Given the description of an element on the screen output the (x, y) to click on. 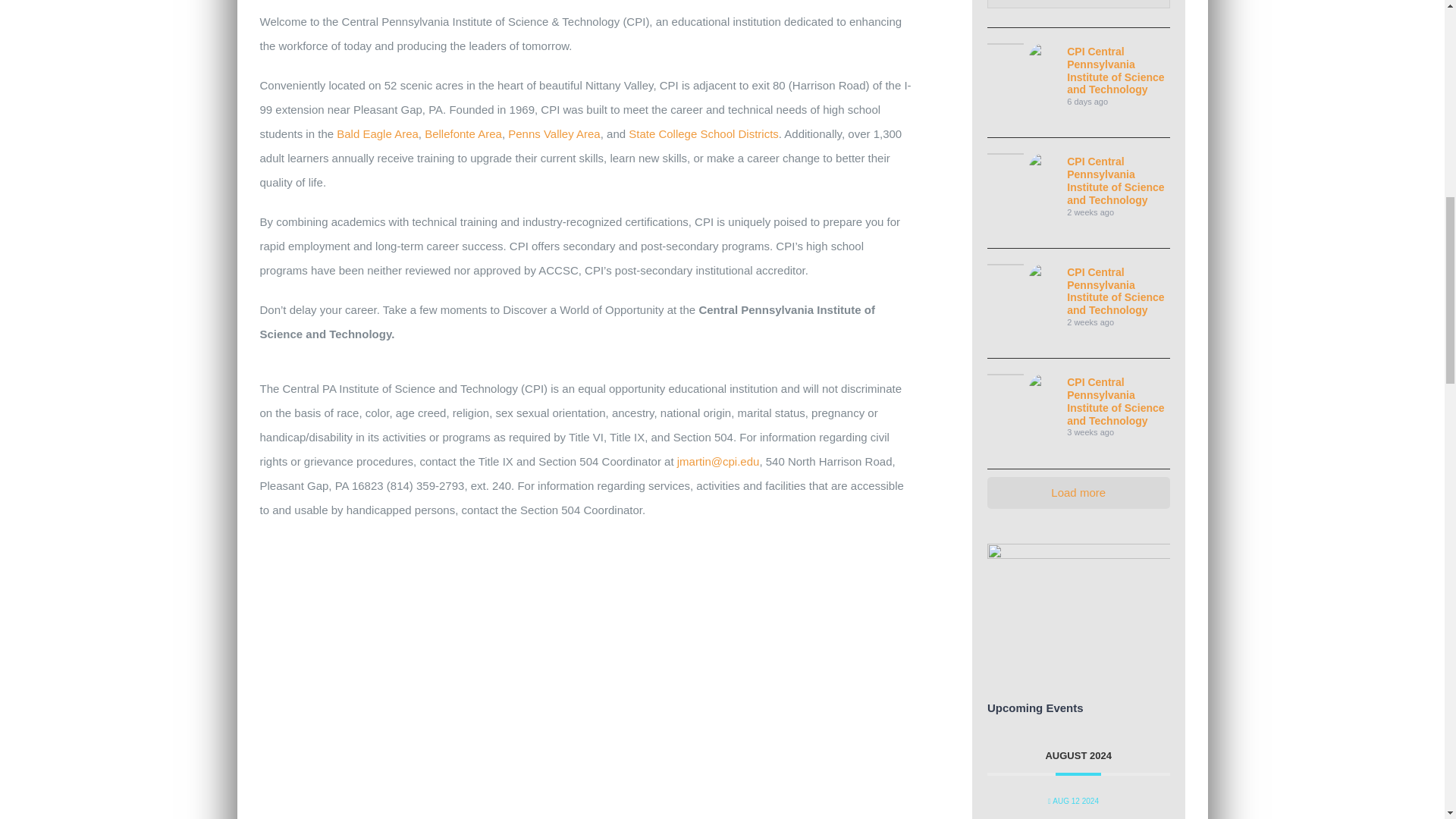
Bellefonte Area School District (463, 133)
Bald Eagle Area School District (377, 133)
State College Area School District (703, 133)
Penns Valley Area School District (553, 133)
